Given the description of an element on the screen output the (x, y) to click on. 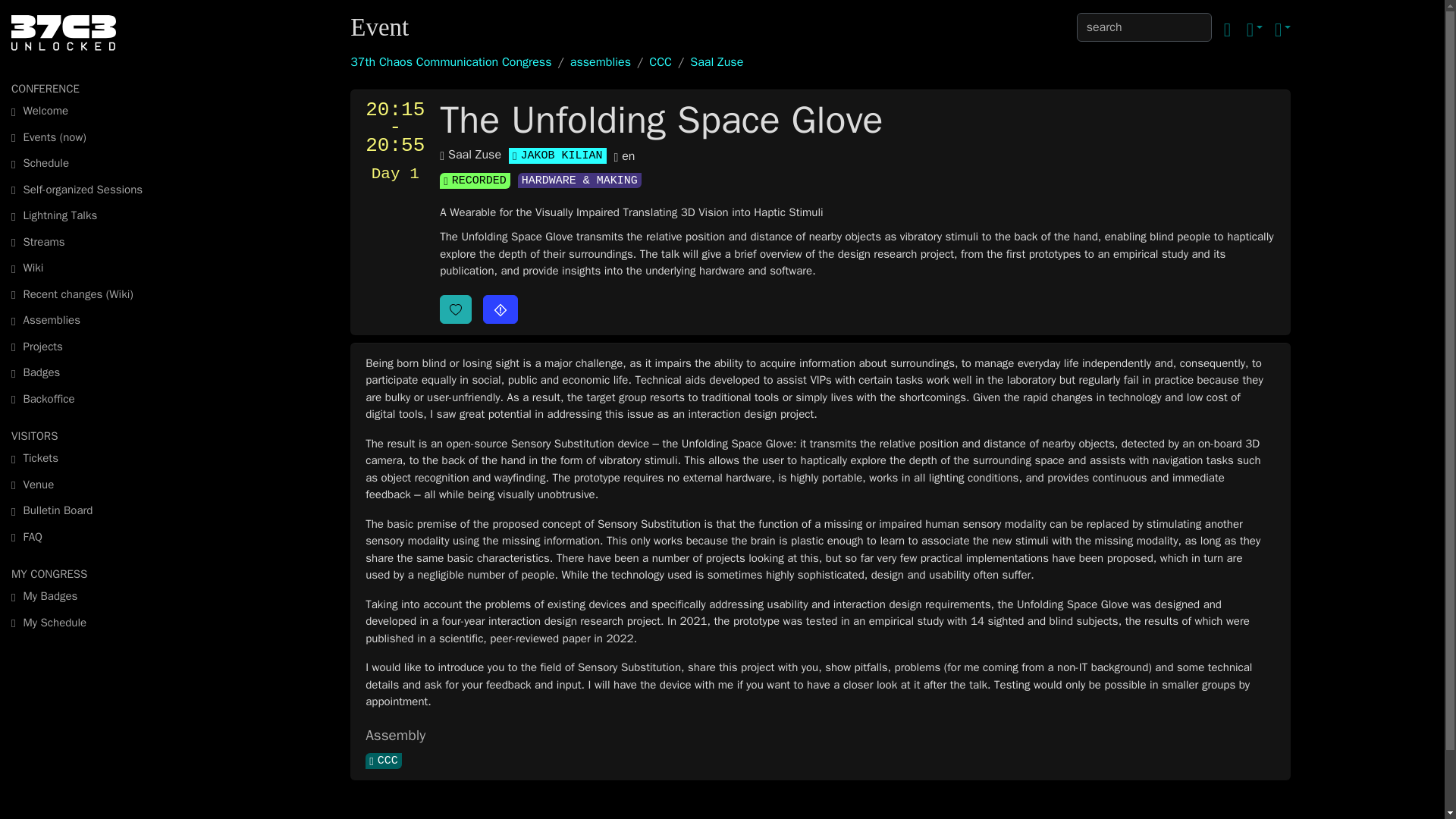
Badges (97, 372)
workshops or discussions in Assemblies or workshop rooms (97, 189)
My Badges (97, 596)
talks, workshops and other events in list view, starting now (97, 137)
Bulletin Board (97, 510)
shared knowledge (97, 267)
Backoffice (97, 397)
Saal Zuse (469, 155)
Streams (97, 242)
How we use the CCH at 37C3 (97, 484)
My Schedule (97, 622)
frequently asked questions (97, 536)
assemblies (600, 61)
FAQ (97, 536)
Give a short introduction on a topic (97, 215)
